Given the description of an element on the screen output the (x, y) to click on. 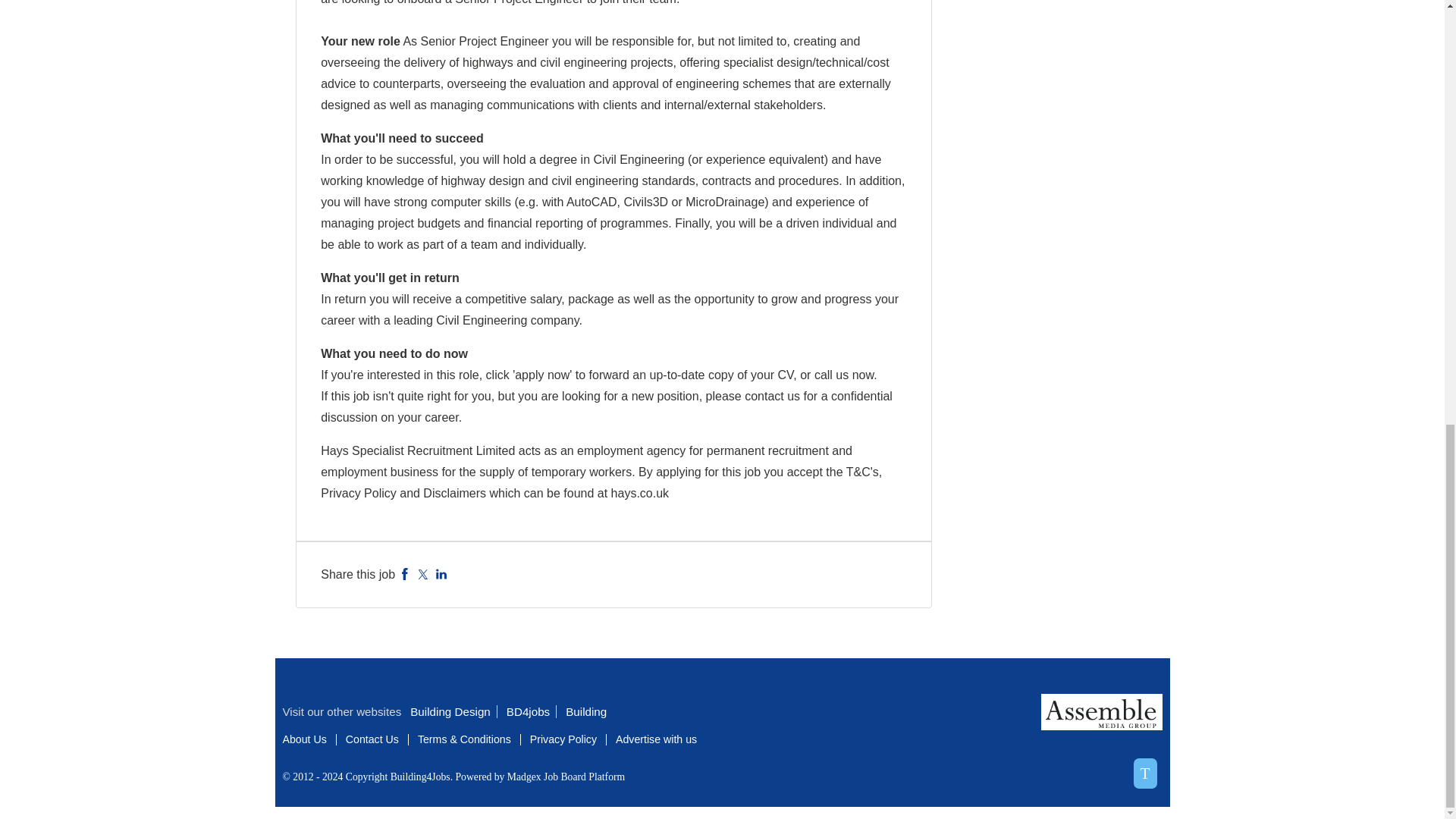
About Us (304, 739)
LinkedIn (440, 574)
Facebook (404, 574)
Building Design (453, 711)
Twitter (422, 574)
BD4jobs (531, 711)
Building (589, 711)
